Given the description of an element on the screen output the (x, y) to click on. 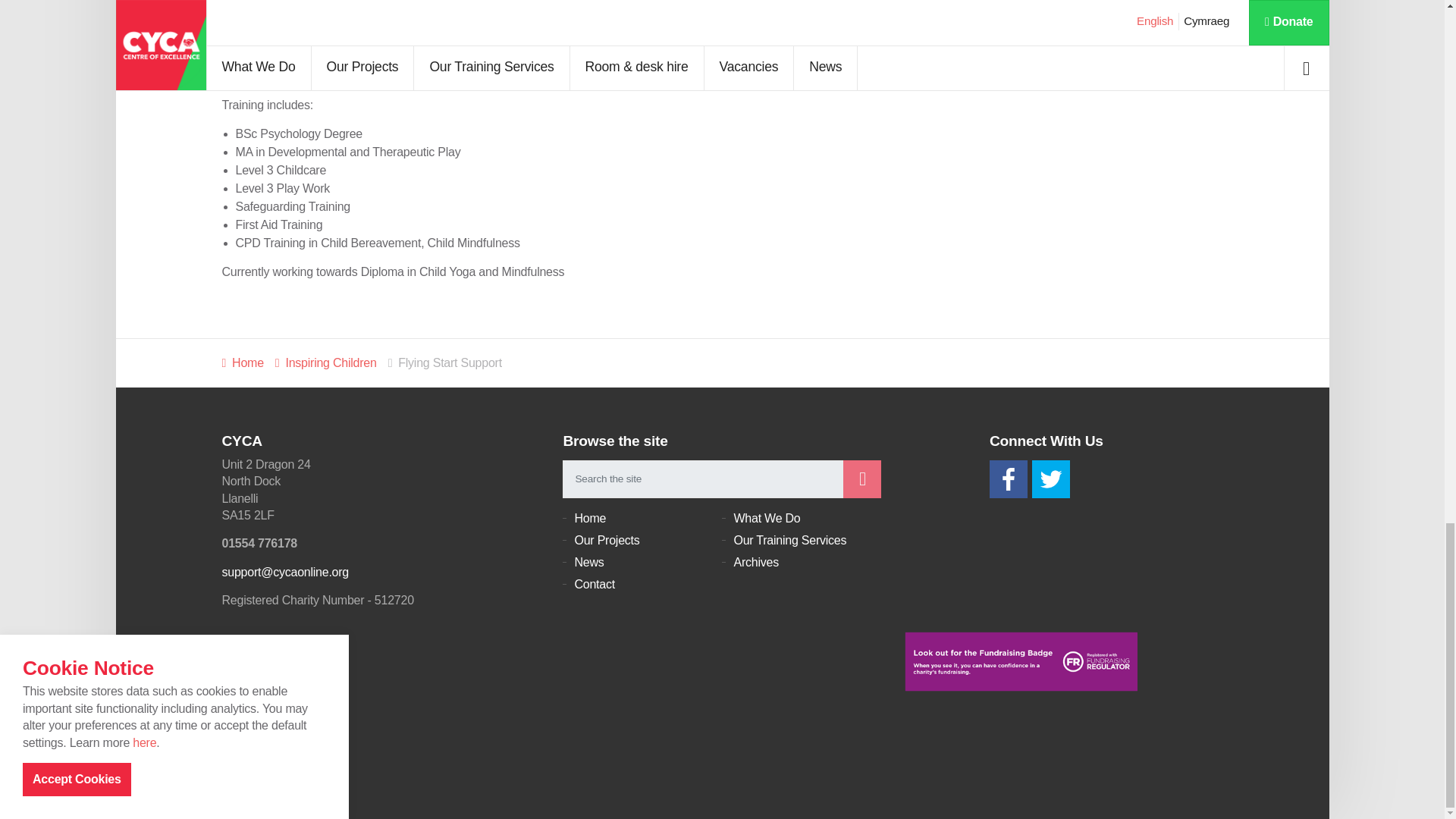
Contact (642, 584)
Cookie Policy (285, 766)
Home (242, 362)
News (642, 562)
Our Projects (642, 540)
Home (642, 518)
Archives (801, 562)
Inspiring Children (326, 362)
Our Training Services (801, 540)
What We Do (801, 518)
